Given the description of an element on the screen output the (x, y) to click on. 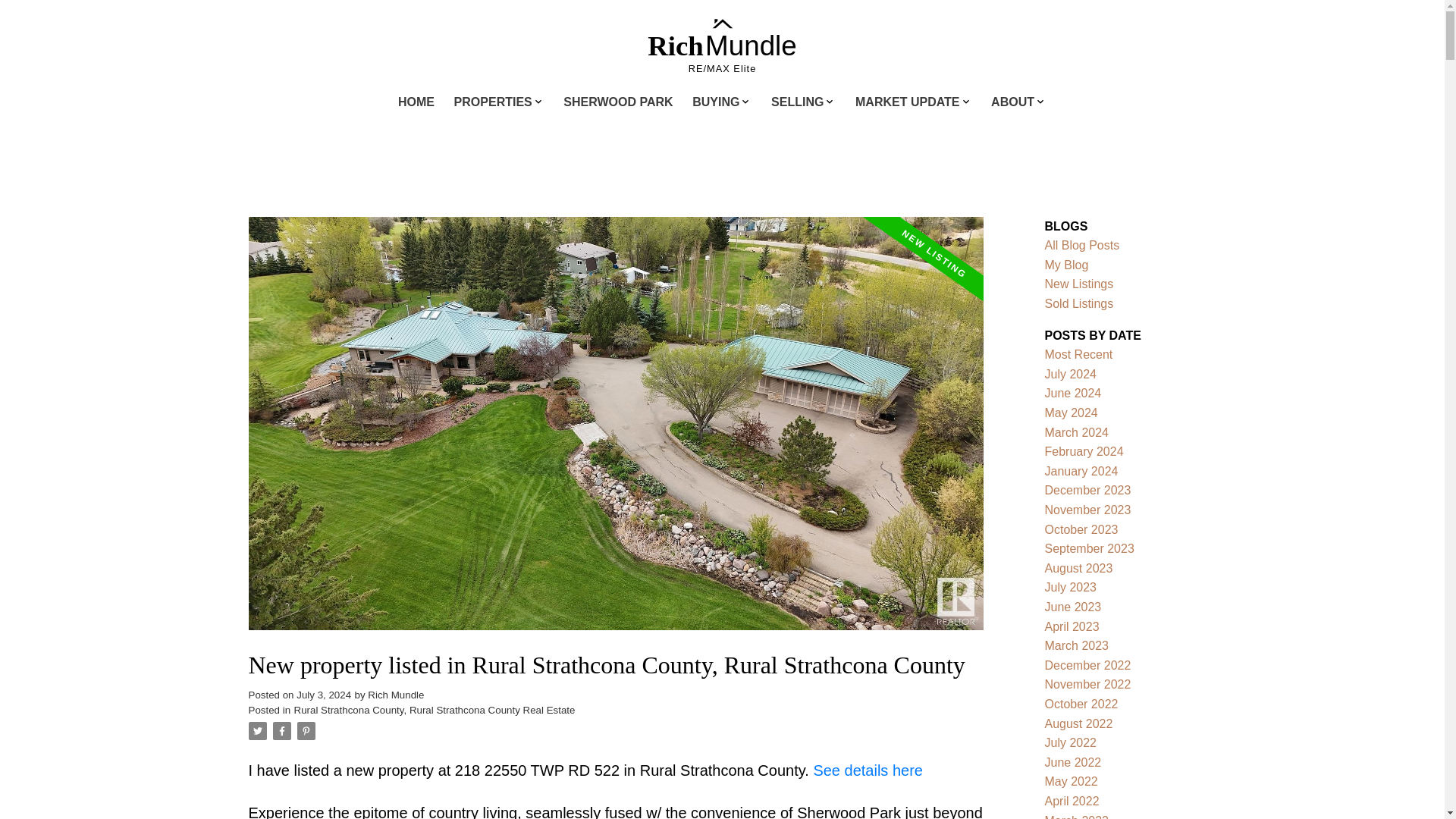
See details here (867, 770)
HOME (415, 103)
Rural Strathcona County, Rural Strathcona County Real Estate (434, 709)
SHERWOOD PARK (617, 103)
